Given the description of an element on the screen output the (x, y) to click on. 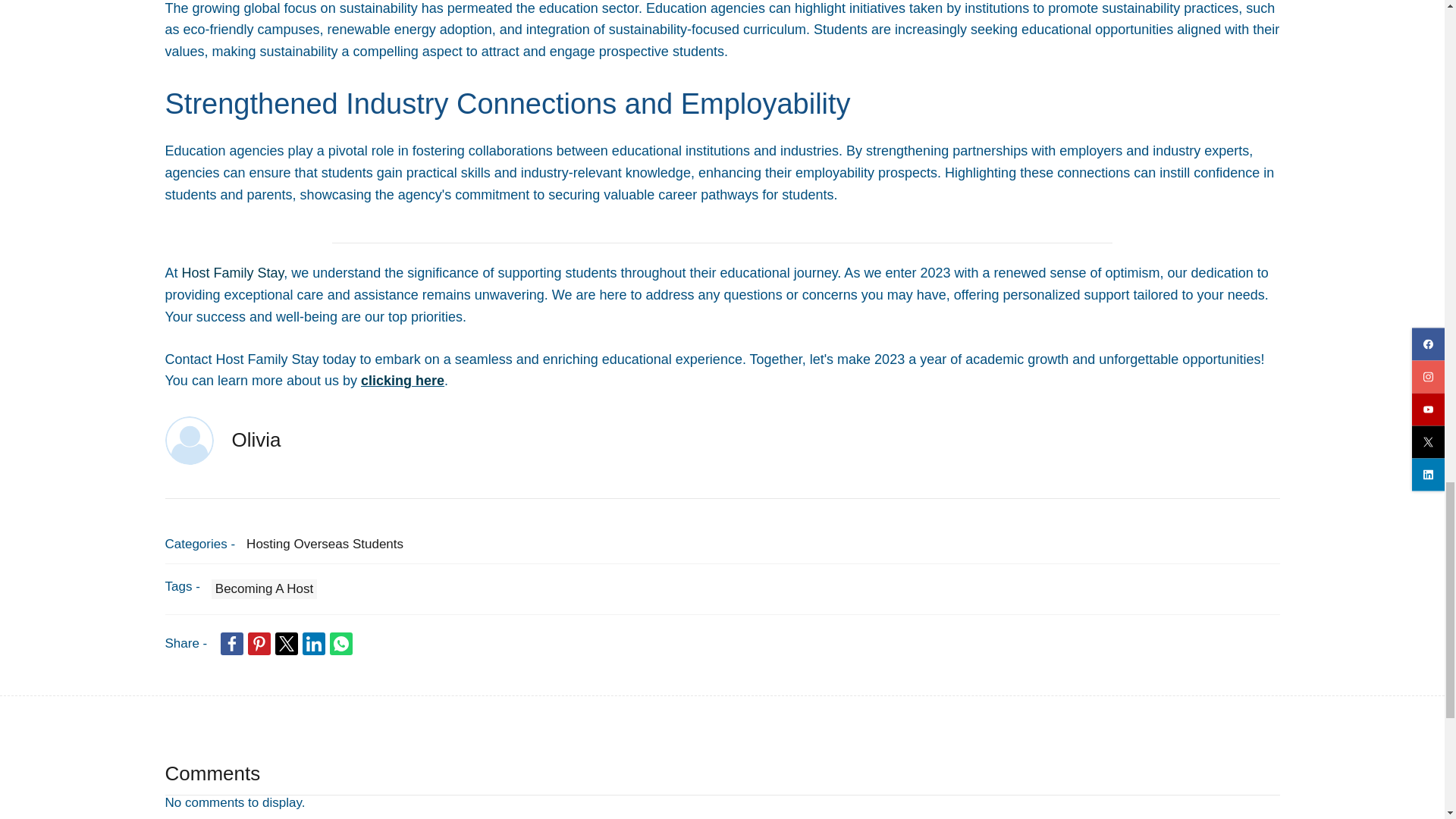
clicking here (402, 380)
Host Family Stay (232, 272)
Hosting Overseas Students (324, 544)
Host Family Stay (232, 272)
clicking here (402, 380)
Becoming A Host (264, 588)
